Given the description of an element on the screen output the (x, y) to click on. 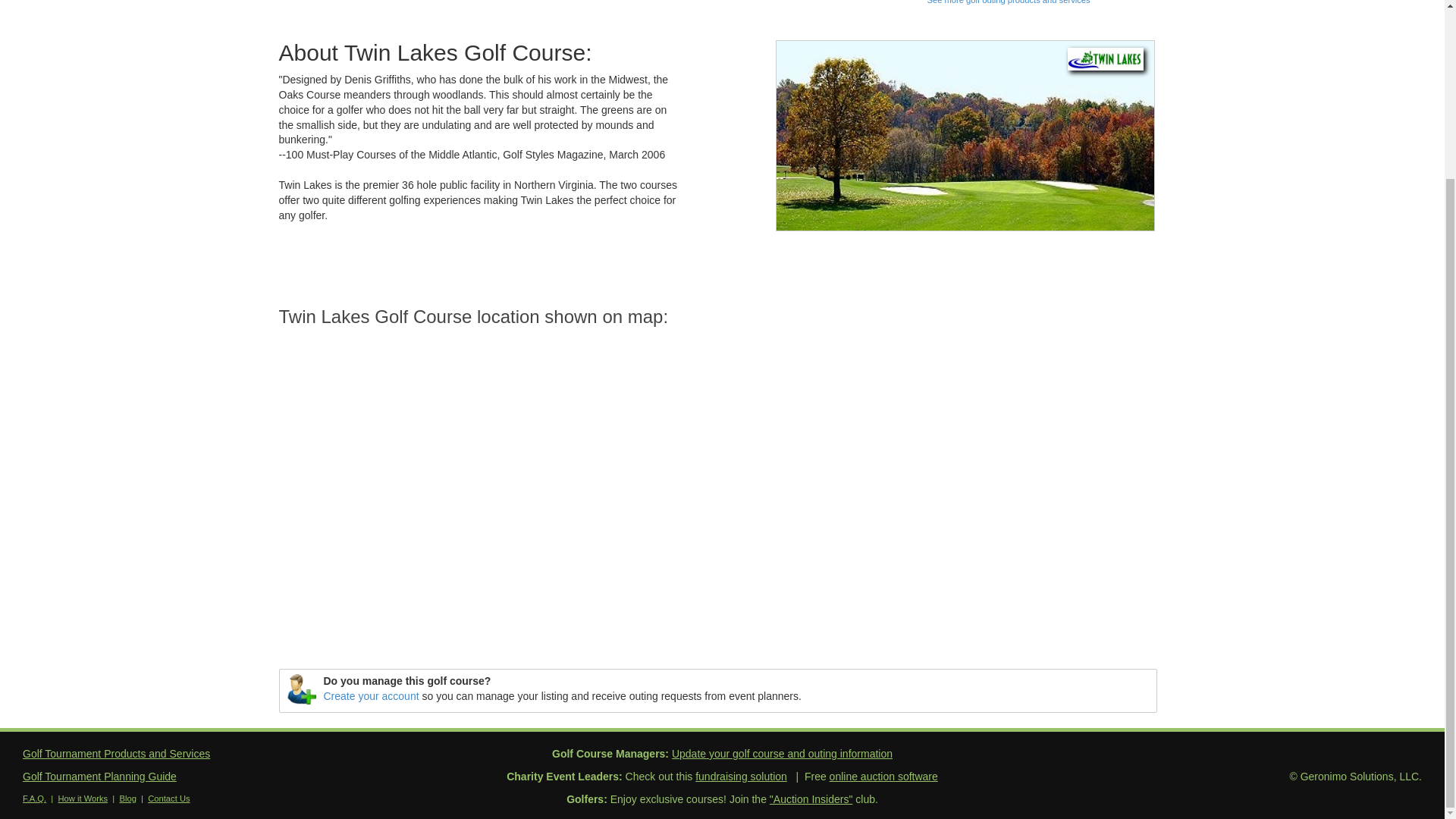
Create your account (371, 695)
See more golf outing products and services (1007, 2)
Gain access to exclusive private golf clubs (811, 799)
